Given the description of an element on the screen output the (x, y) to click on. 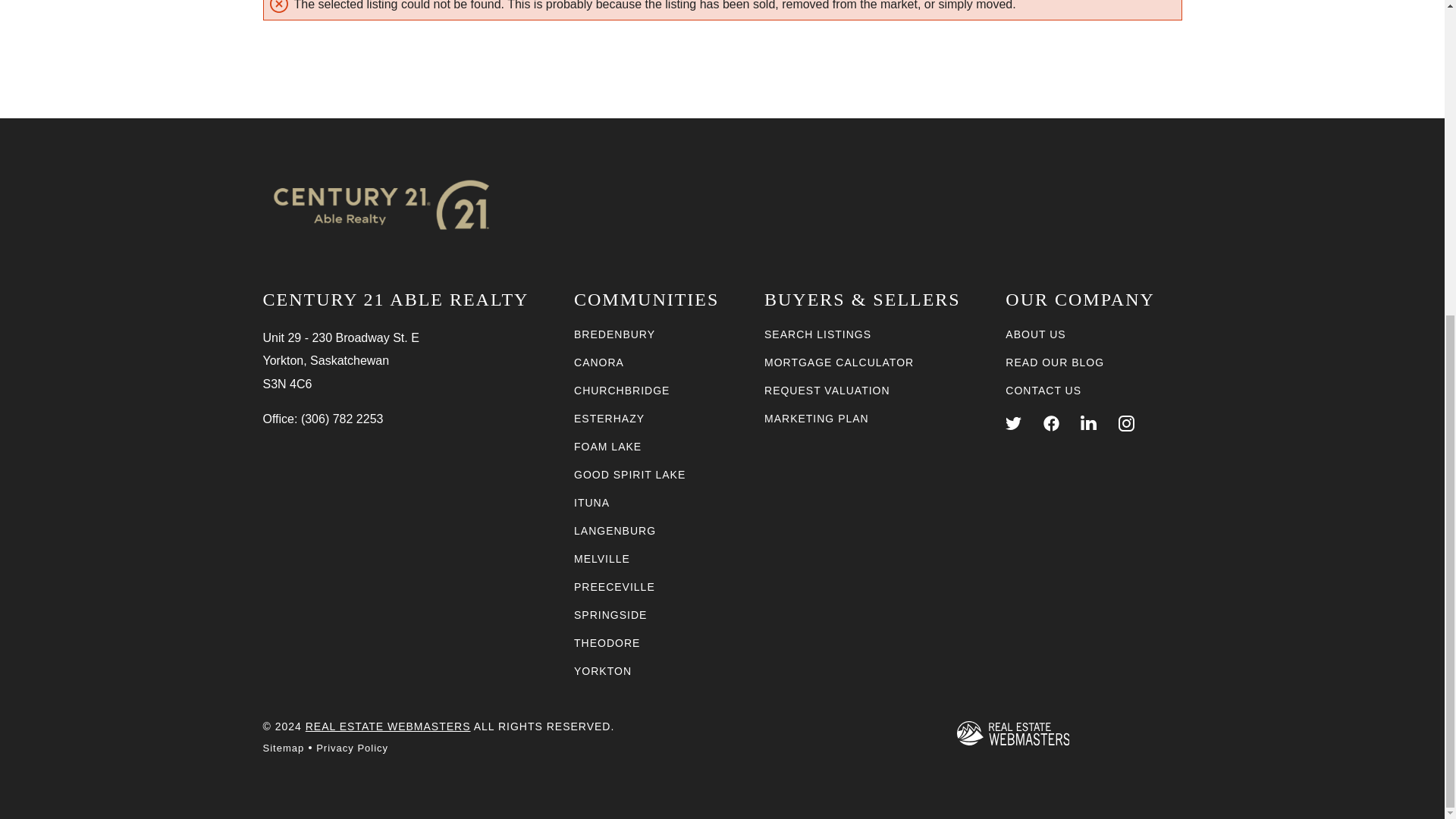
TWITTER (1014, 423)
FACEBOOK (1051, 423)
LINKEDIN (1088, 423)
